Given the description of an element on the screen output the (x, y) to click on. 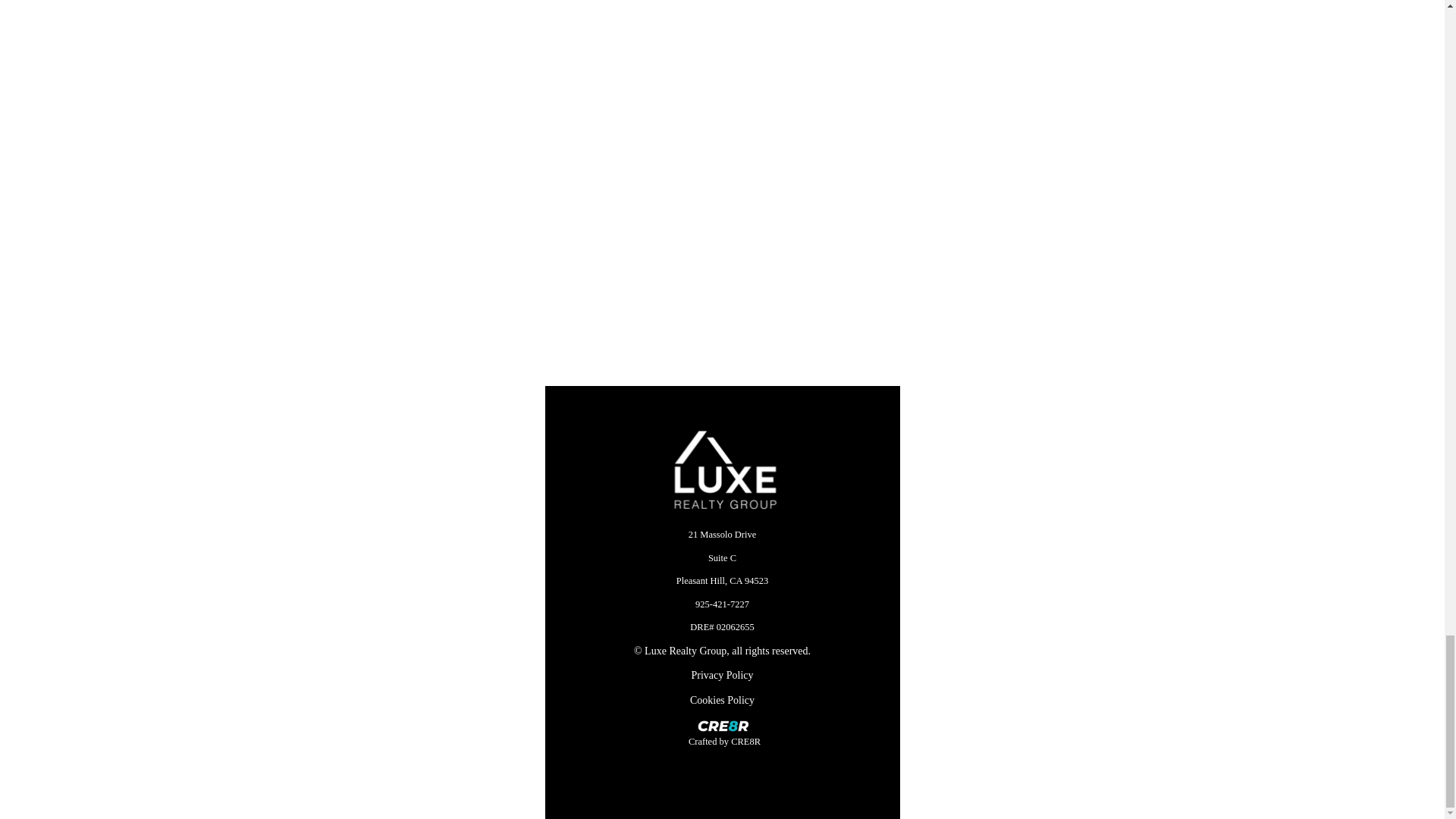
Cookies Policy (722, 700)
Luxe   Logo Final White copy (724, 471)
Crafted by CRE8R (724, 740)
Privacy Policy (721, 675)
